Given the description of an element on the screen output the (x, y) to click on. 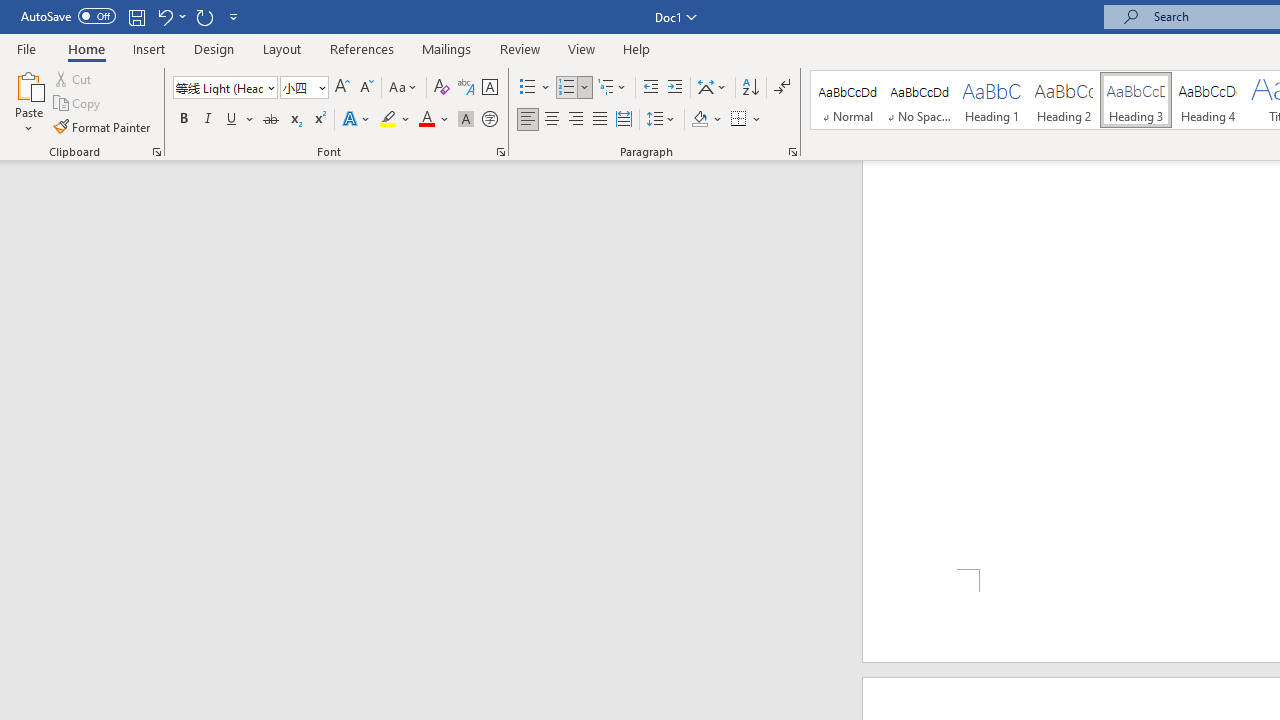
Repeat Number Default (204, 15)
